Given the description of an element on the screen output the (x, y) to click on. 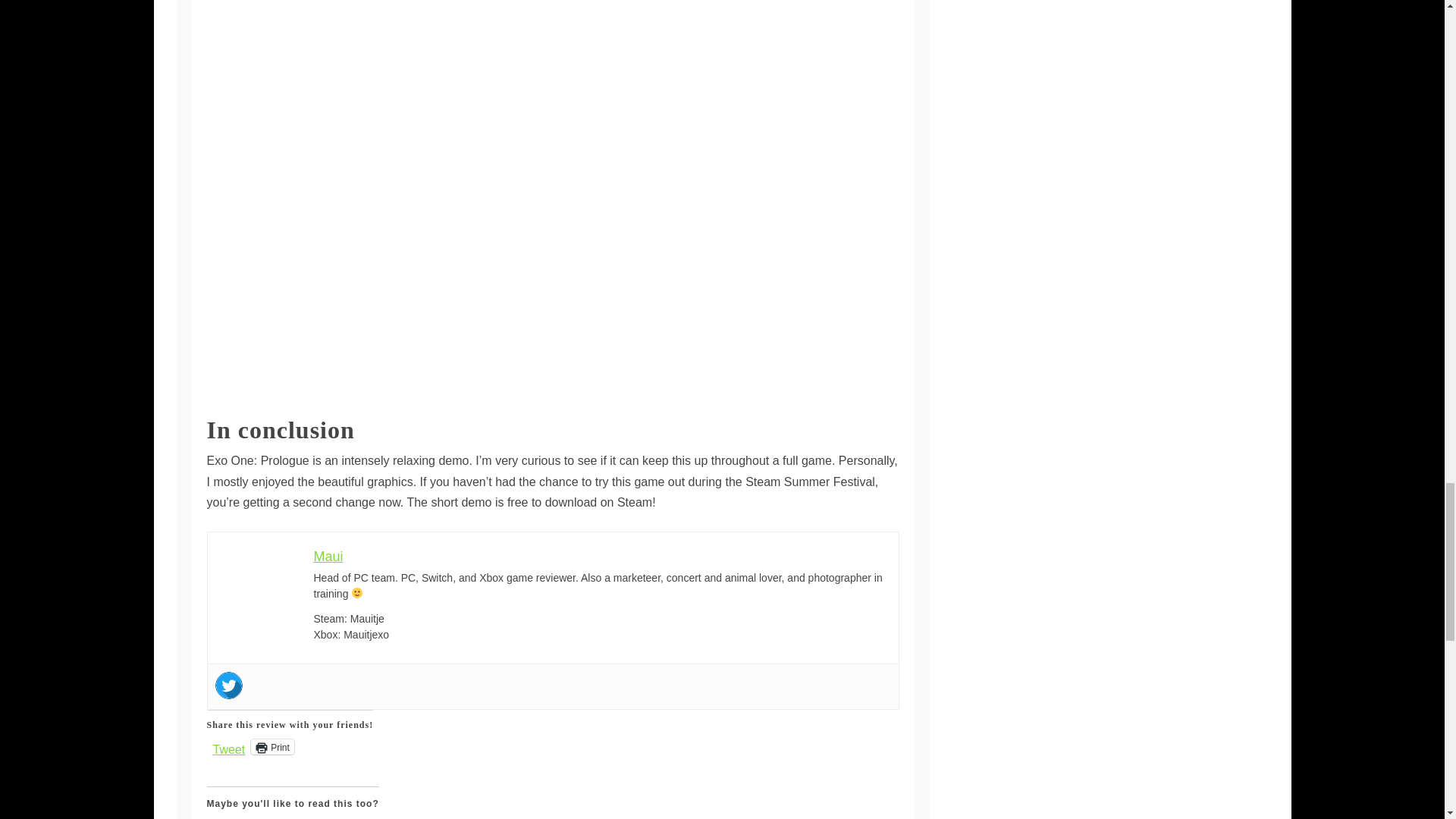
Tweet (228, 745)
Twitter (229, 685)
Print (272, 746)
Click to print (272, 746)
Maui (328, 556)
